Given the description of an element on the screen output the (x, y) to click on. 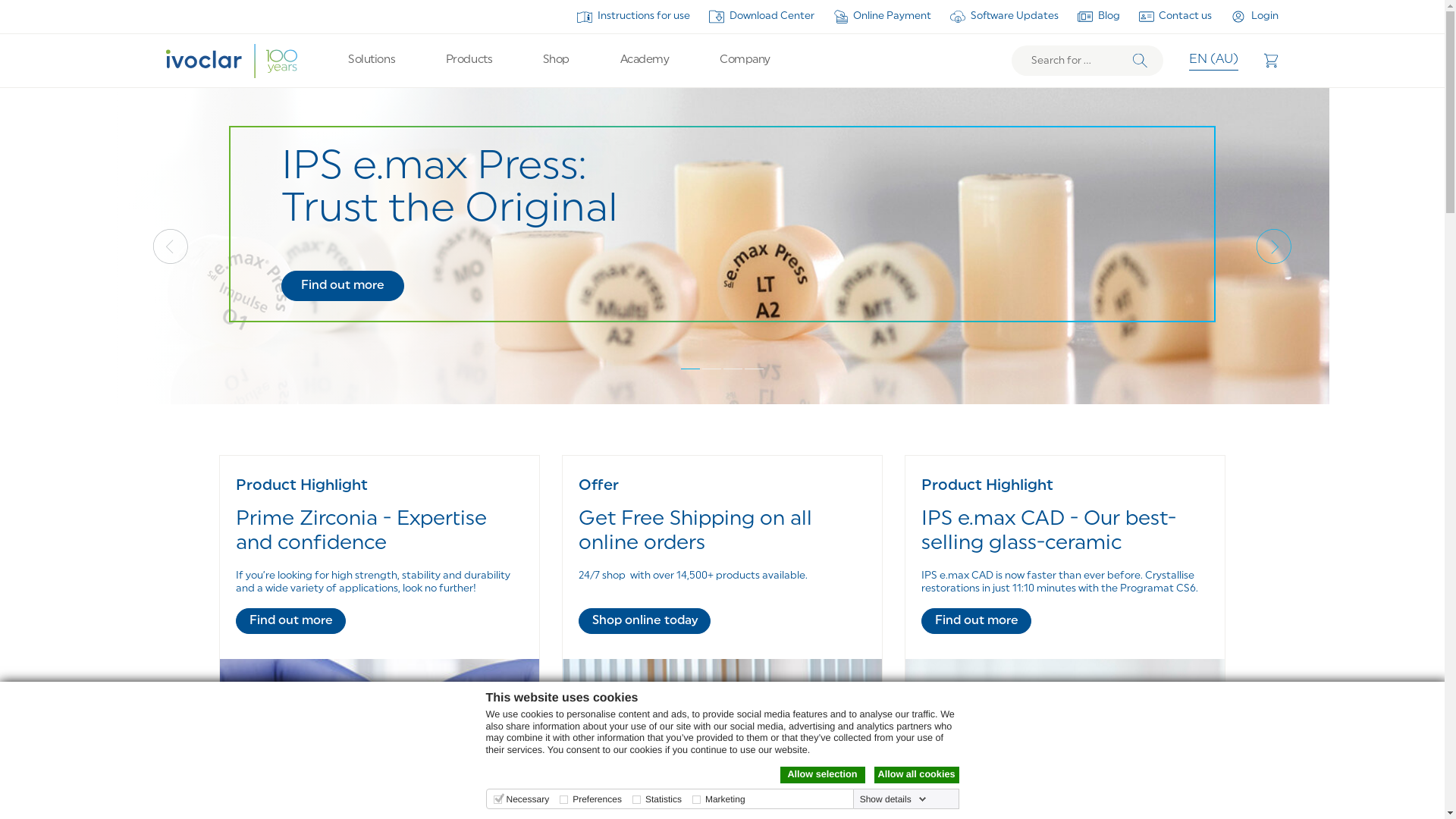
Software Updates Element type: text (1004, 16)
Blog Element type: text (1098, 16)
Contact us Element type: text (1175, 16)
Find out more Element type: text (342, 285)
Products Element type: text (468, 60)
Login Element type: text (1254, 16)
Find out more Element type: text (976, 620)
Allow selection Element type: text (821, 774)
Online Payment Element type: text (882, 16)
Company Element type: text (744, 60)
EN (AU) Element type: text (1213, 60)
Show details Element type: text (892, 799)
Shop Element type: text (555, 60)
Instructions for use Element type: text (633, 16)
Cart Element type: hover (1270, 60)
Download Center Element type: text (761, 16)
Solutions Element type: text (371, 60)
Shop online today Element type: text (644, 620)
Academy Element type: text (644, 60)
Allow all cookies Element type: text (915, 774)
Find out more Element type: text (290, 620)
